Given the description of an element on the screen output the (x, y) to click on. 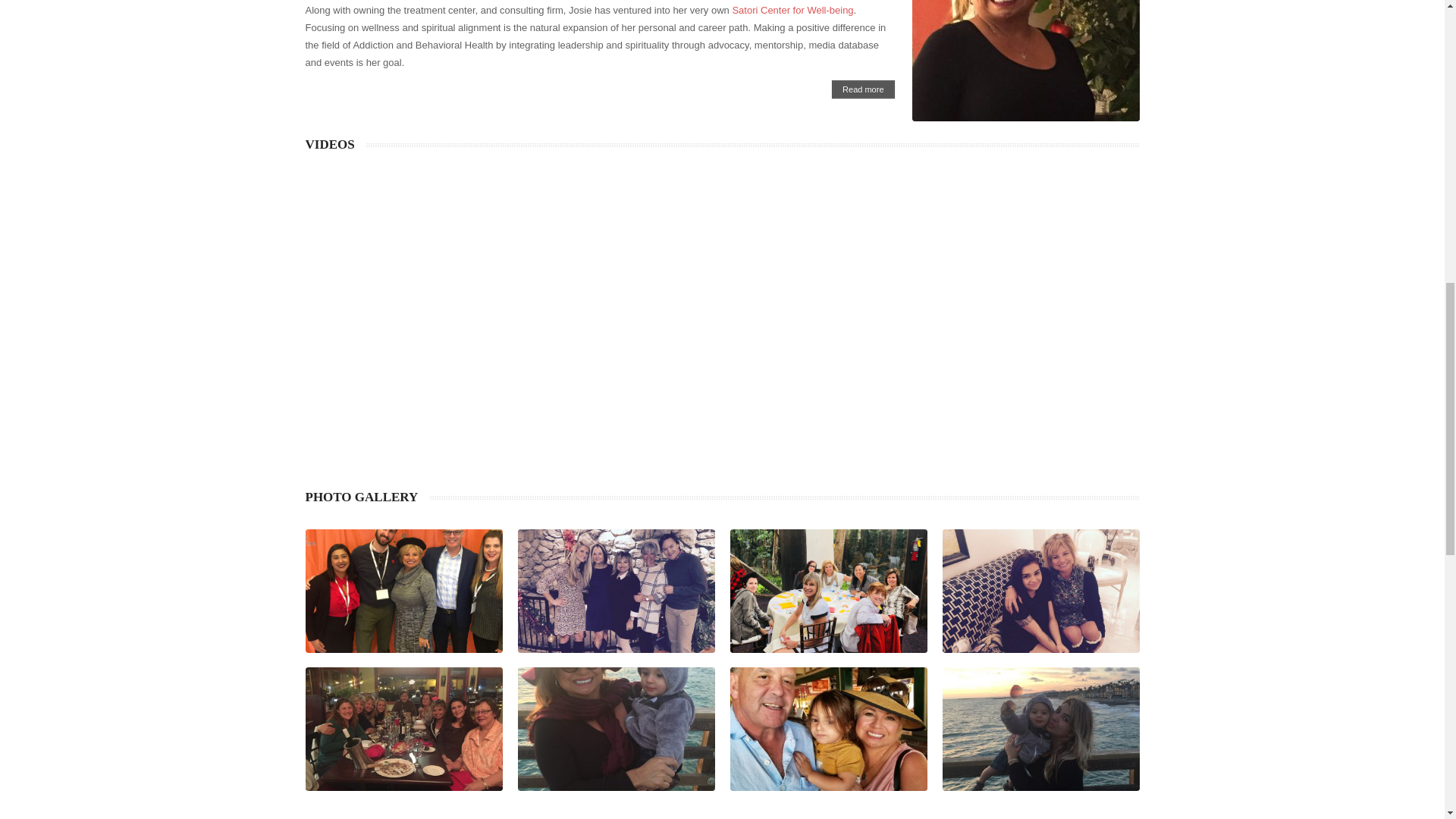
Satori Center for Well-being (792, 9)
Read more (862, 89)
